Given the description of an element on the screen output the (x, y) to click on. 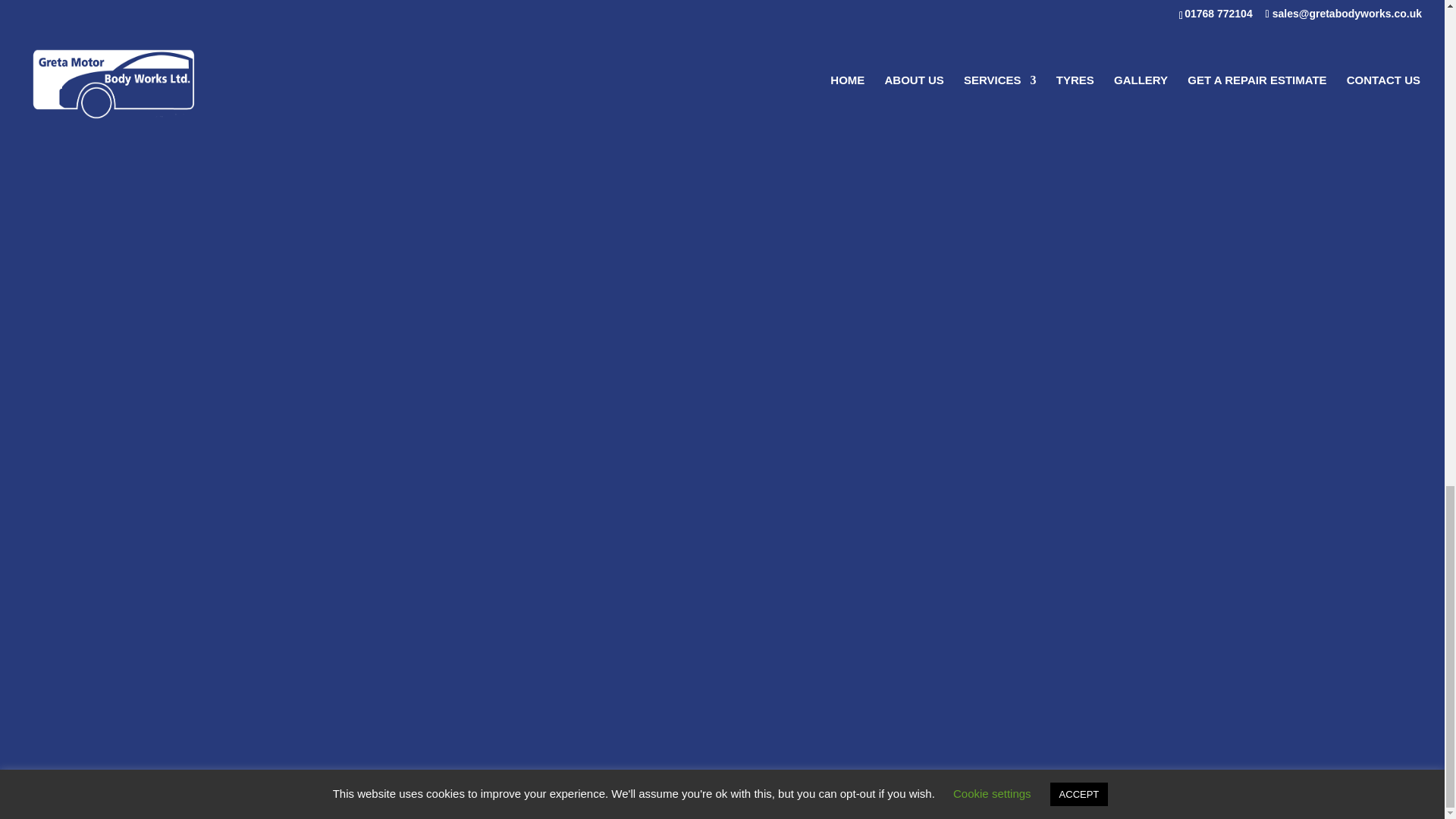
Send (1083, 335)
